Given the description of an element on the screen output the (x, y) to click on. 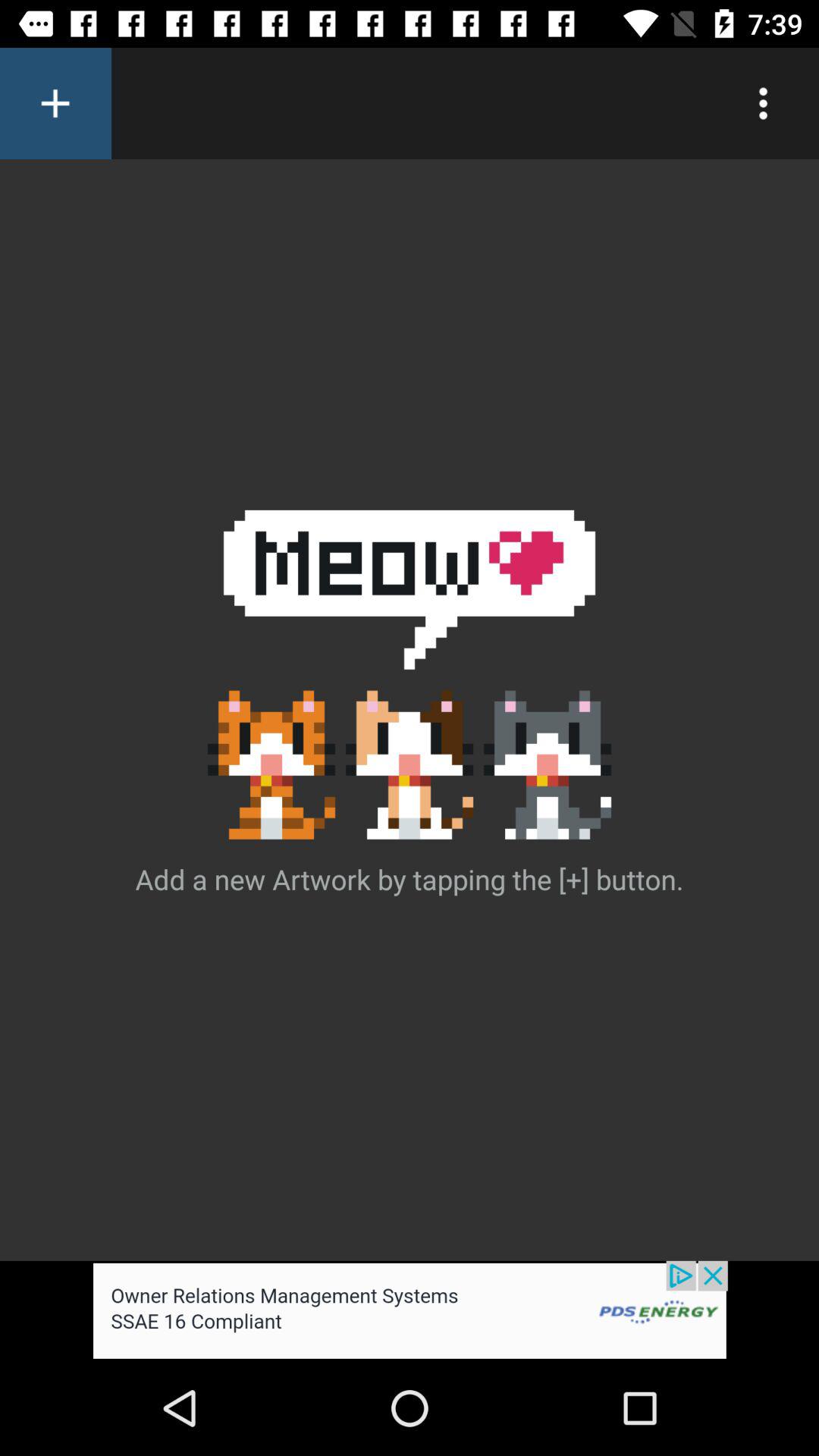
visit advertisement (409, 1310)
